Given the description of an element on the screen output the (x, y) to click on. 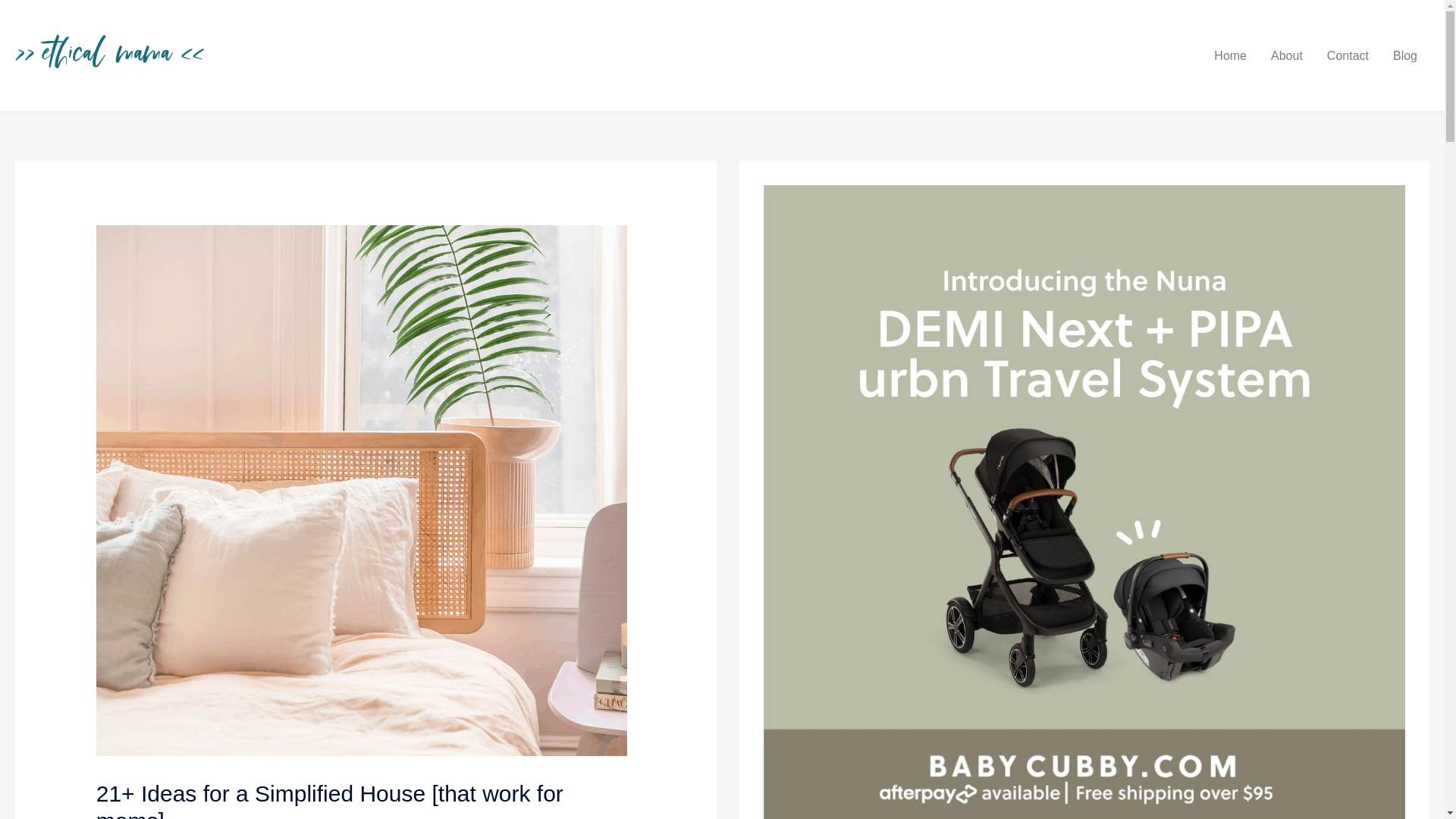
Home (1230, 55)
About (1286, 55)
Contact (1347, 55)
